Given the description of an element on the screen output the (x, y) to click on. 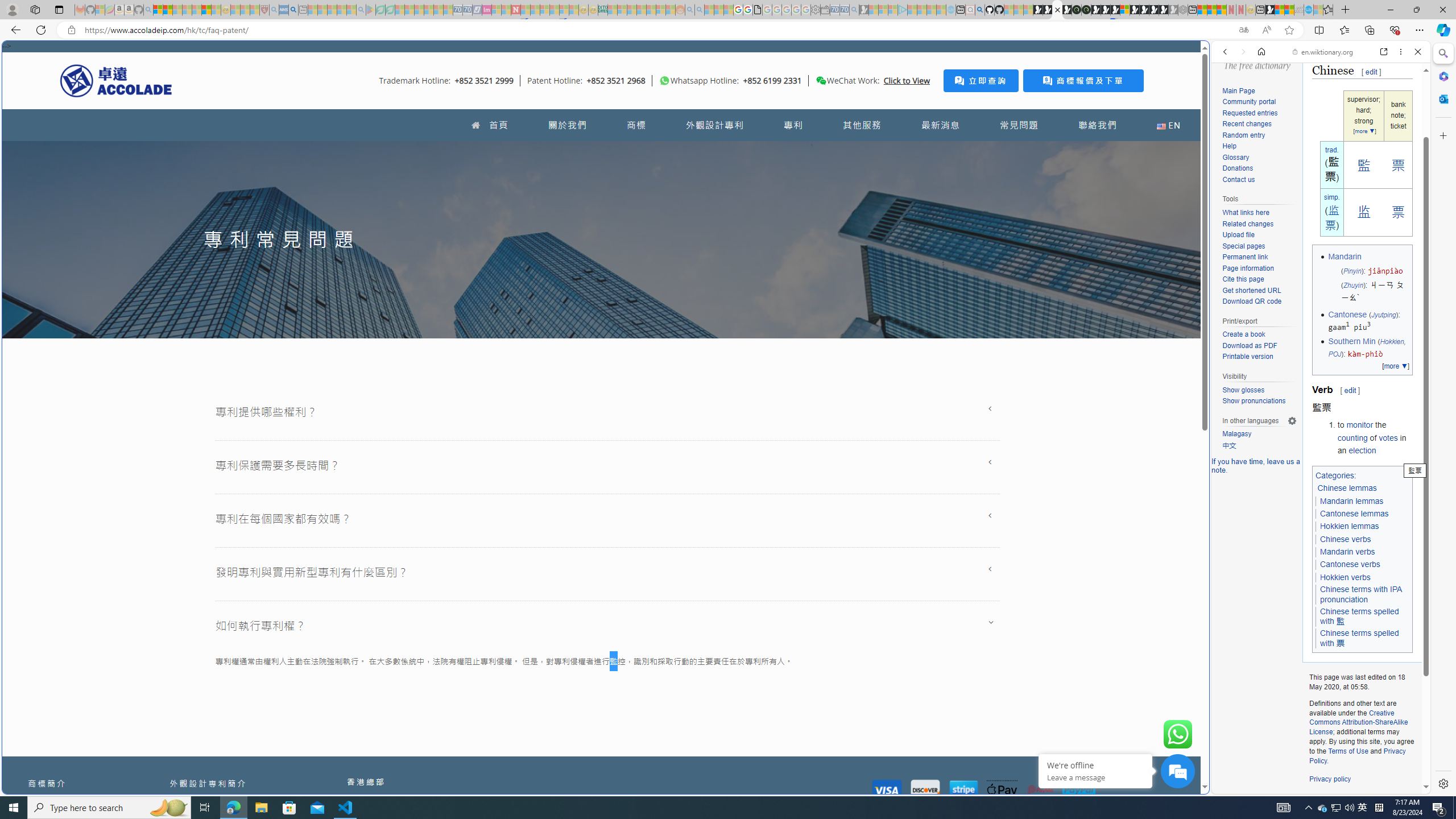
Pinyin (1351, 270)
Play Zoo Boom in your browser | Games from Microsoft Start (1047, 9)
Privacy Policy. (1357, 755)
Mandarin lemmas (1351, 500)
